Given the description of an element on the screen output the (x, y) to click on. 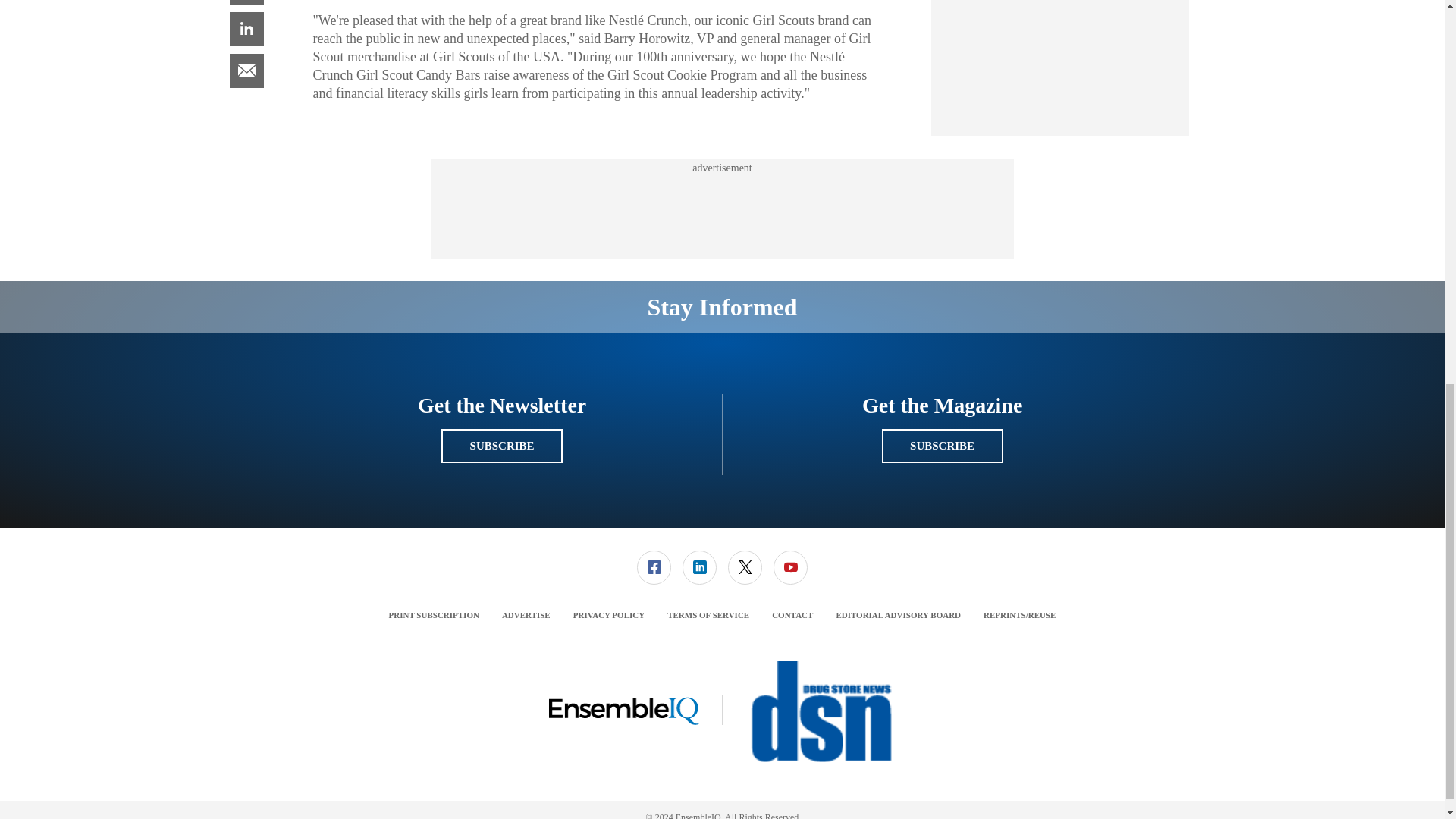
SUBSCRIBE (942, 446)
SUBSCRIBE (501, 446)
3rd party ad content (721, 209)
3rd party ad content (1059, 60)
